Given the description of an element on the screen output the (x, y) to click on. 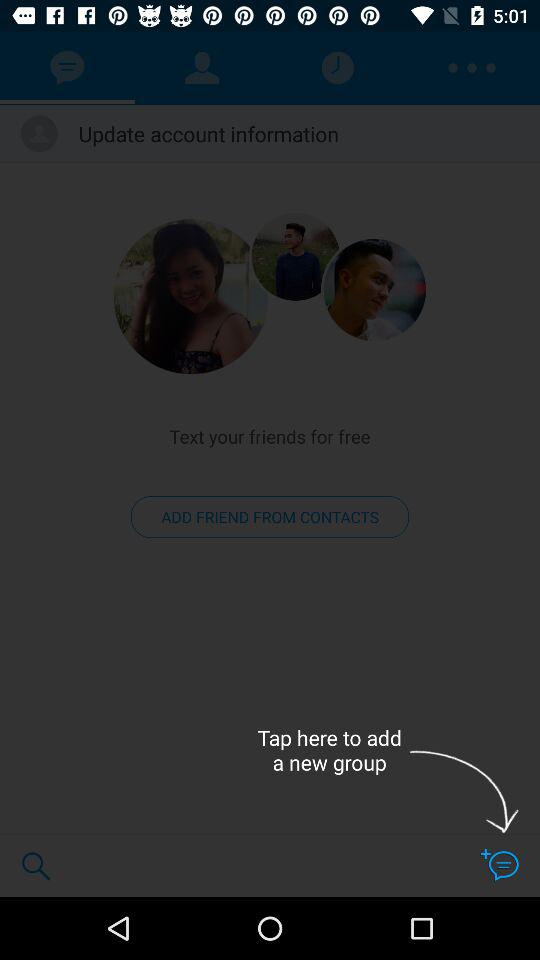
click on the three dot button at the top right corner (472, 68)
click on the icon at the bottom right most corner of the web page (500, 865)
